Given the description of an element on the screen output the (x, y) to click on. 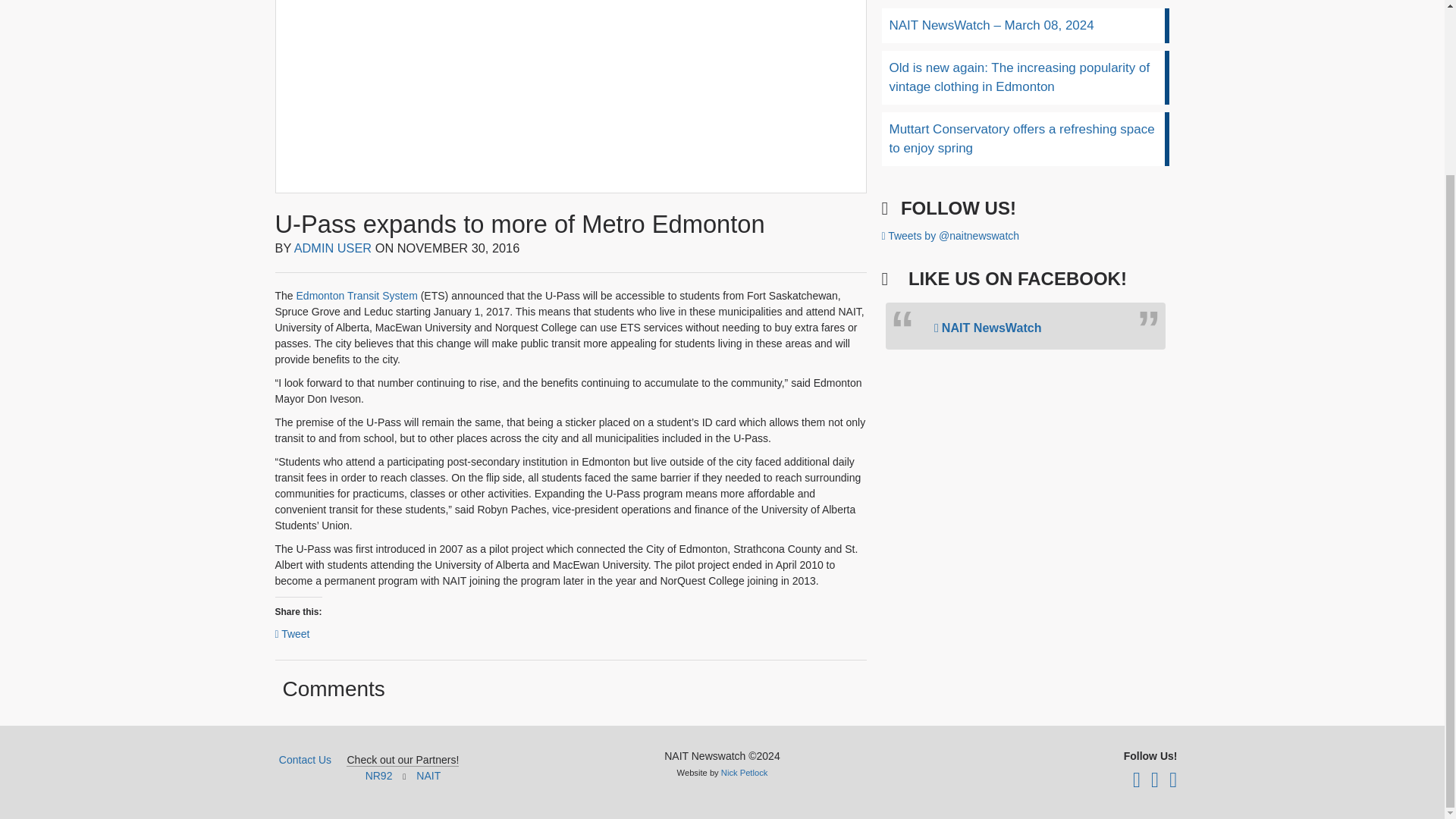
Edmonton Transit System (357, 295)
Tweet (291, 632)
NAIT NewsWatch (988, 327)
Nick Petlock (744, 772)
Contact Us (305, 759)
ADMIN USER (333, 247)
NR92 (379, 775)
NAIT (428, 775)
